Given the description of an element on the screen output the (x, y) to click on. 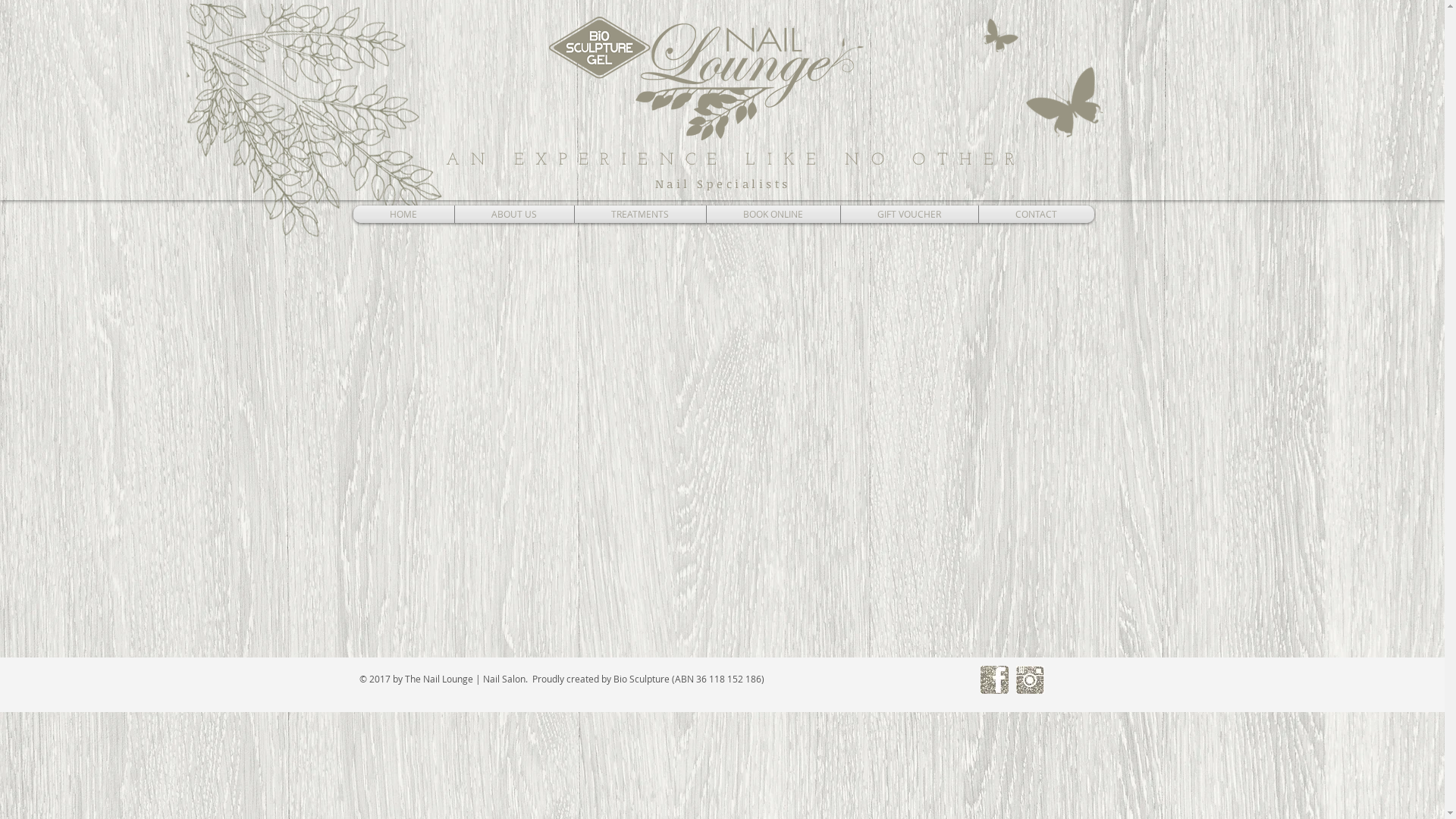
Heading---butterfly.png Element type: hover (1060, 92)
HOME Element type: text (403, 213)
Heading---Logo.png Element type: hover (706, 78)
GIFT VOUCHER Element type: text (908, 213)
Embedded Content Element type: hover (722, 421)
BOOK ONLINE Element type: text (773, 213)
ABOUT US Element type: text (514, 213)
TREATMENTS Element type: text (640, 213)
CONTACT Element type: text (1035, 213)
Heading---butterfly.png Element type: hover (992, 29)
